Given the description of an element on the screen output the (x, y) to click on. 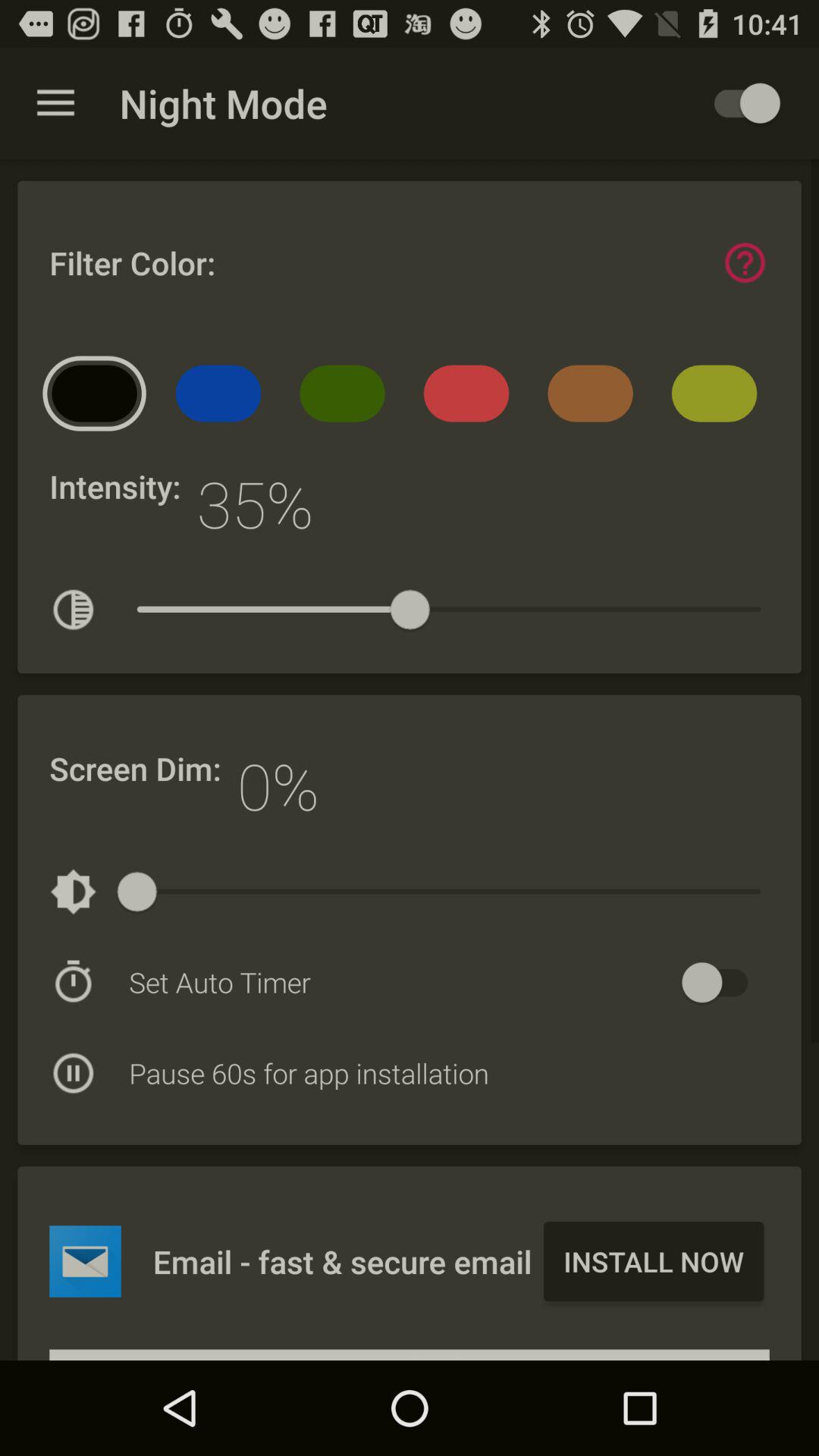
activate night mode (739, 103)
